Given the description of an element on the screen output the (x, y) to click on. 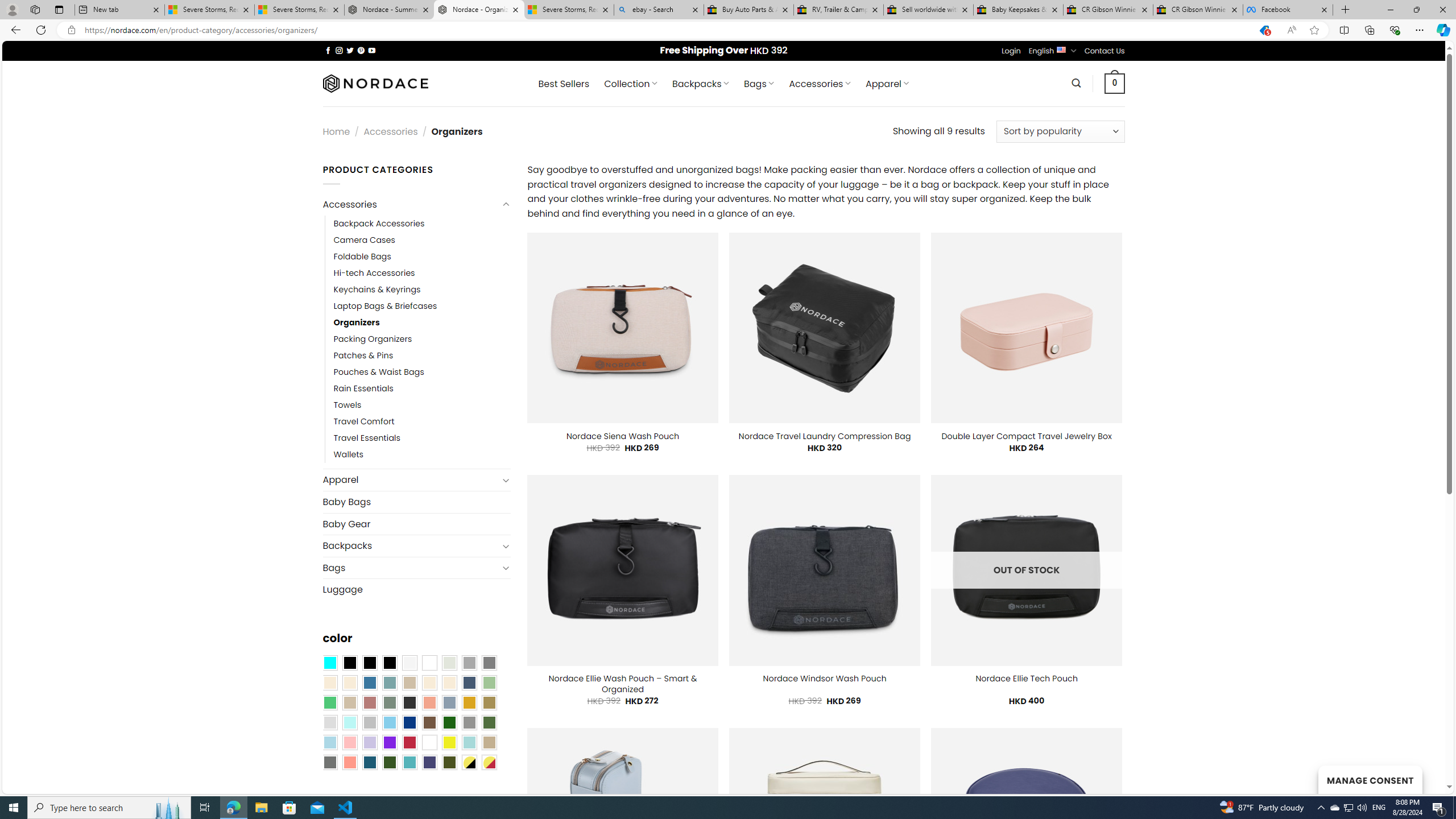
Buy Auto Parts & Accessories | eBay (747, 9)
Wallets (422, 454)
Wallets (348, 454)
Brown (429, 721)
Dull Nickle (329, 762)
Light Green (488, 681)
Light Gray (329, 721)
Camera Cases (363, 239)
Hale Navy (468, 681)
View site information (70, 29)
Light Taupe (349, 702)
Travel Comfort (422, 421)
